Given the description of an element on the screen output the (x, y) to click on. 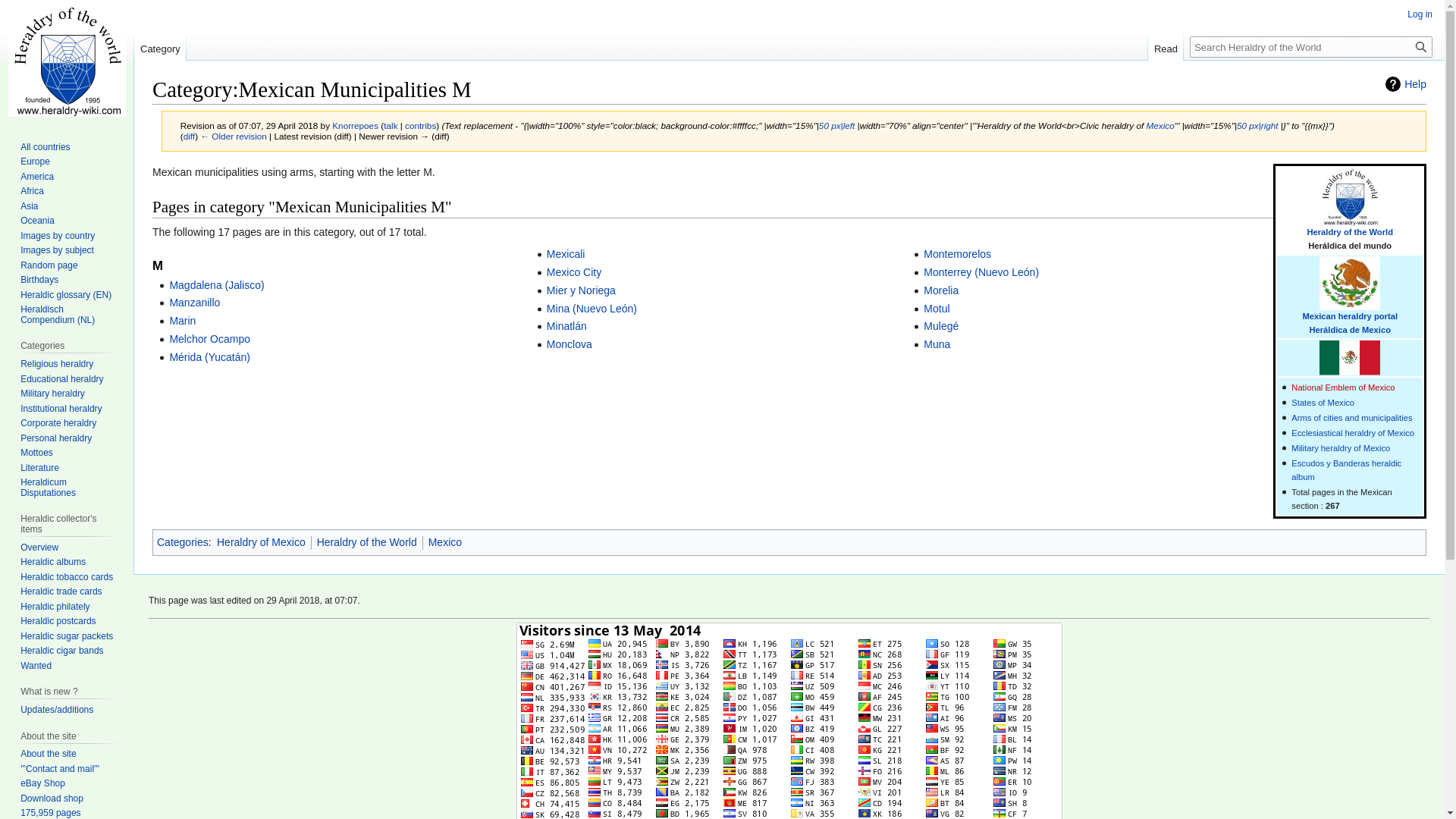
Motul (936, 308)
Mexico (1349, 329)
contribs (419, 125)
diff (189, 135)
talk (390, 125)
User talk:Knorrepoes (390, 125)
Melchor Ocampo (209, 338)
Manzanillo (193, 302)
Mexico (1349, 316)
File:Mexico.jpg (836, 125)
Help (1406, 83)
Escudos y Banderas heraldic album (1345, 469)
Military heraldry of Mexico (1340, 447)
Heraldry of the World (1349, 231)
